Given the description of an element on the screen output the (x, y) to click on. 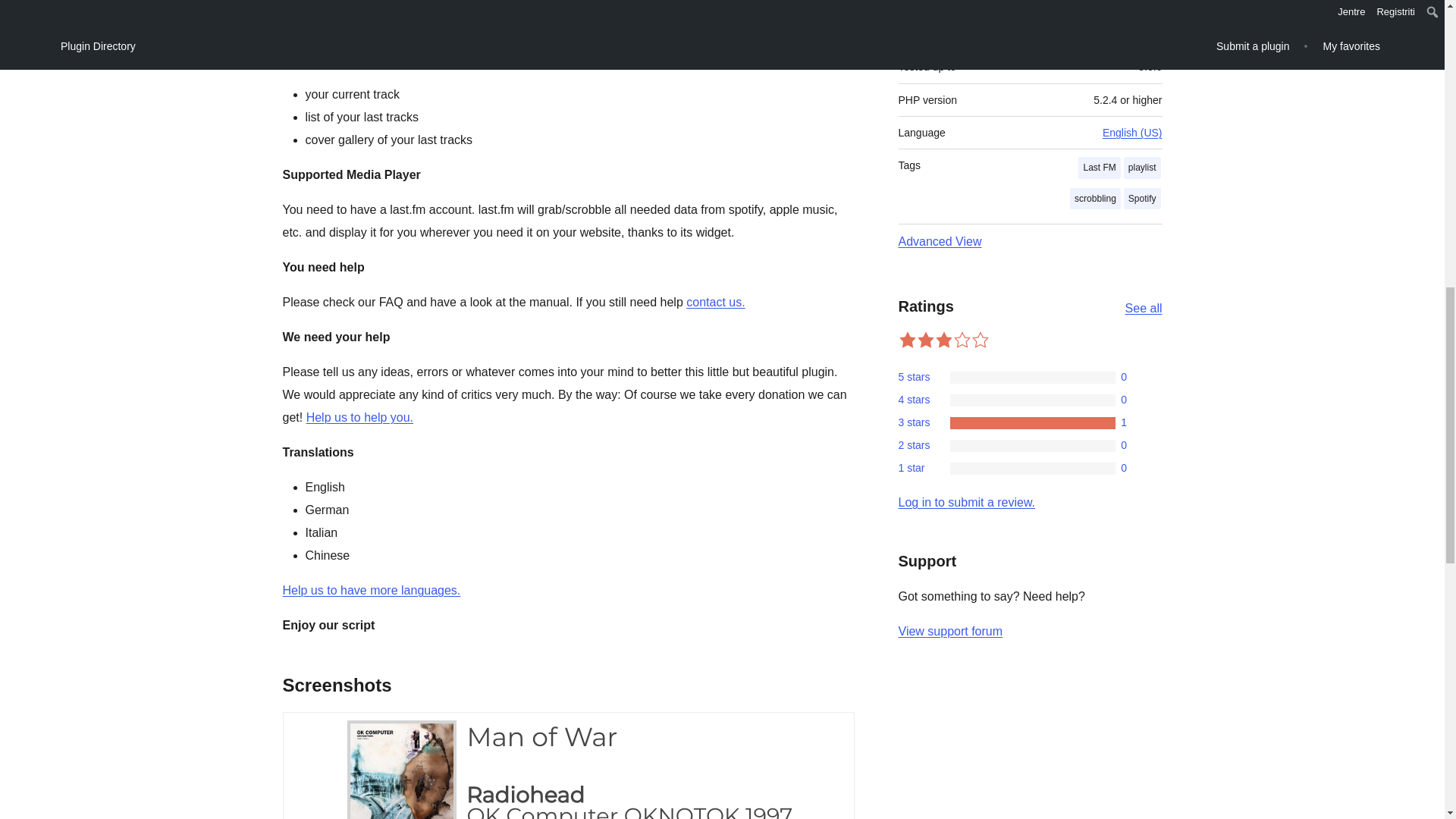
Log in to WordPress.org (966, 502)
contact us. (714, 301)
Help us to help you. (359, 417)
Help us to have more languages. (371, 590)
